Given the description of an element on the screen output the (x, y) to click on. 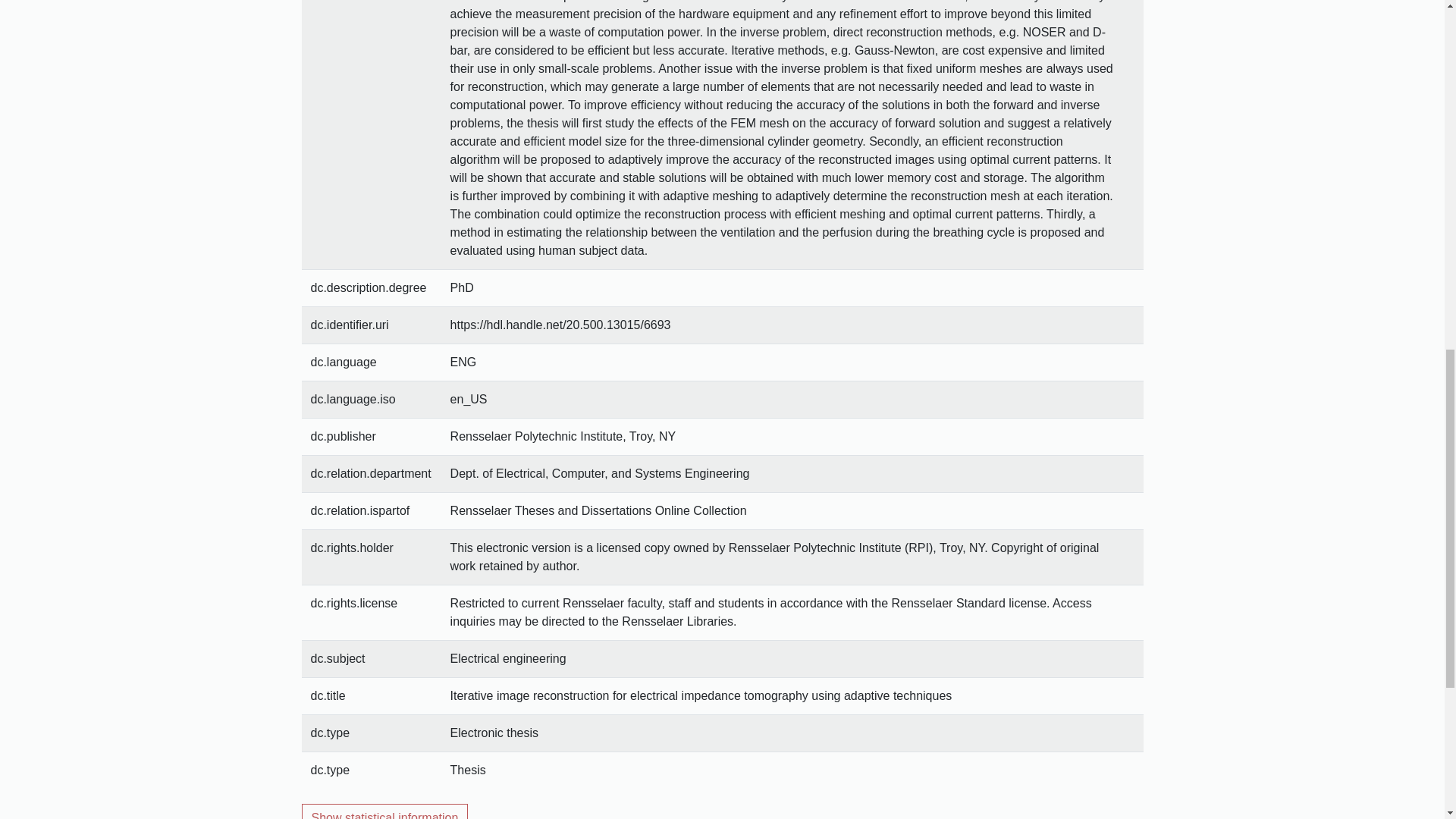
Show statistical information (384, 811)
